Given the description of an element on the screen output the (x, y) to click on. 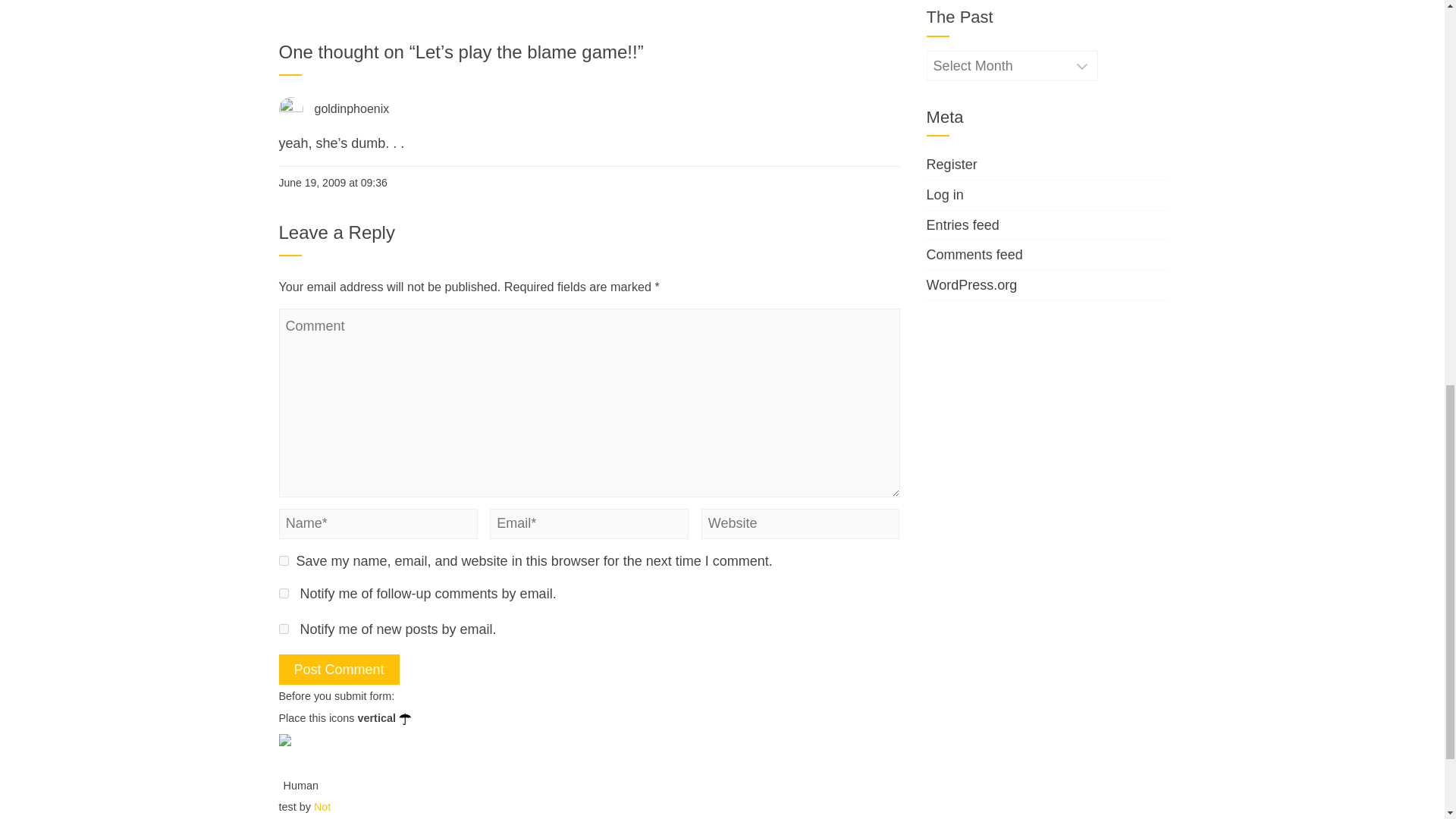
yes (283, 560)
Comments feed (974, 254)
WordPress.org (971, 284)
subscribe (283, 593)
subscribe (283, 628)
June 19, 2009 at 09:36 (333, 182)
Post Comment (338, 669)
Register (951, 164)
Entries feed (962, 224)
Not Captcha (305, 809)
Log in (944, 194)
Post Comment (338, 669)
